Given the description of an element on the screen output the (x, y) to click on. 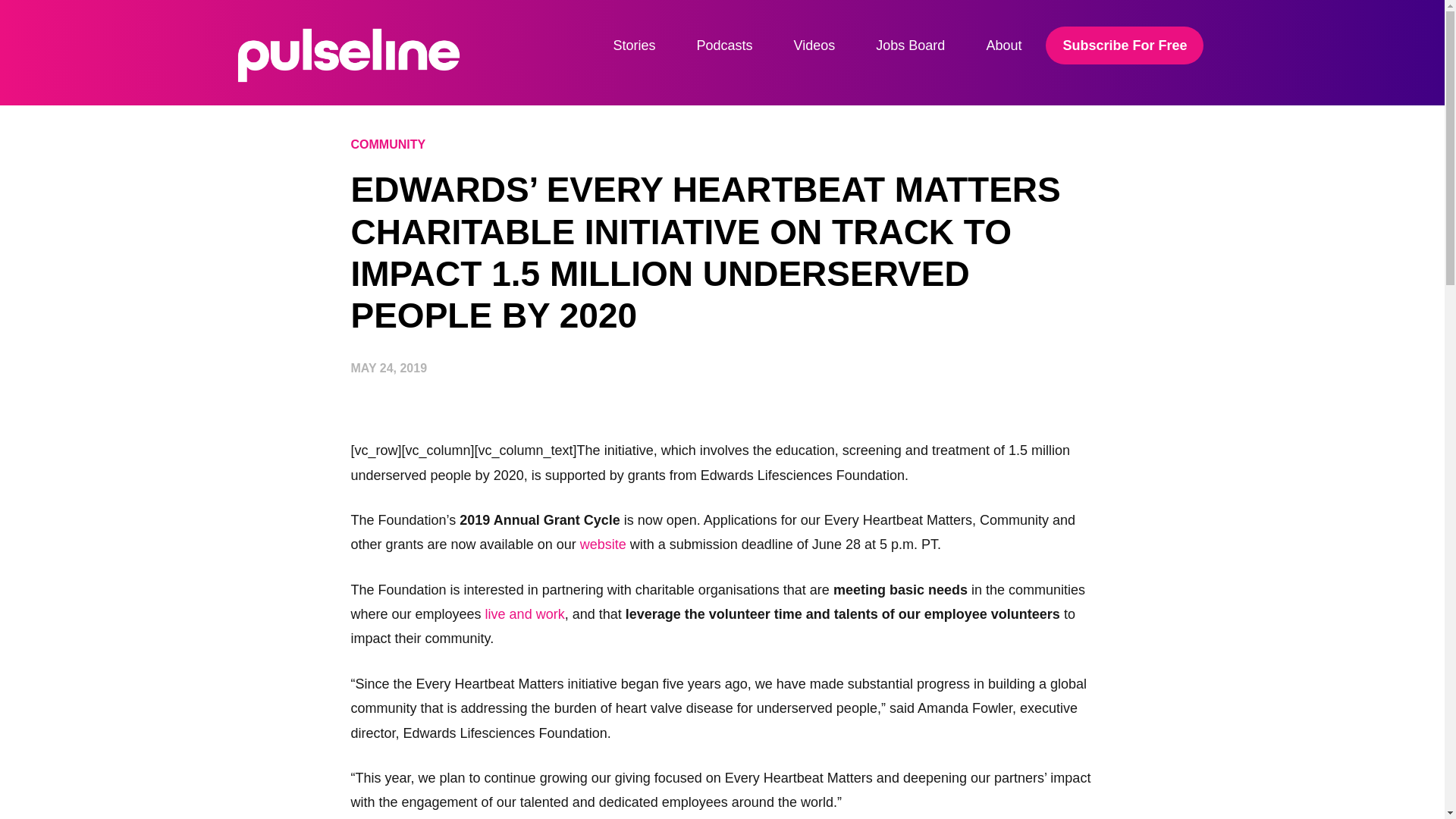
Videos (814, 45)
live and work (524, 613)
About (1003, 45)
Stories (634, 45)
Subscribe For Free (1124, 45)
Podcasts (724, 45)
Jobs Board (909, 45)
website (602, 544)
COMMUNITY (387, 144)
